Given the description of an element on the screen output the (x, y) to click on. 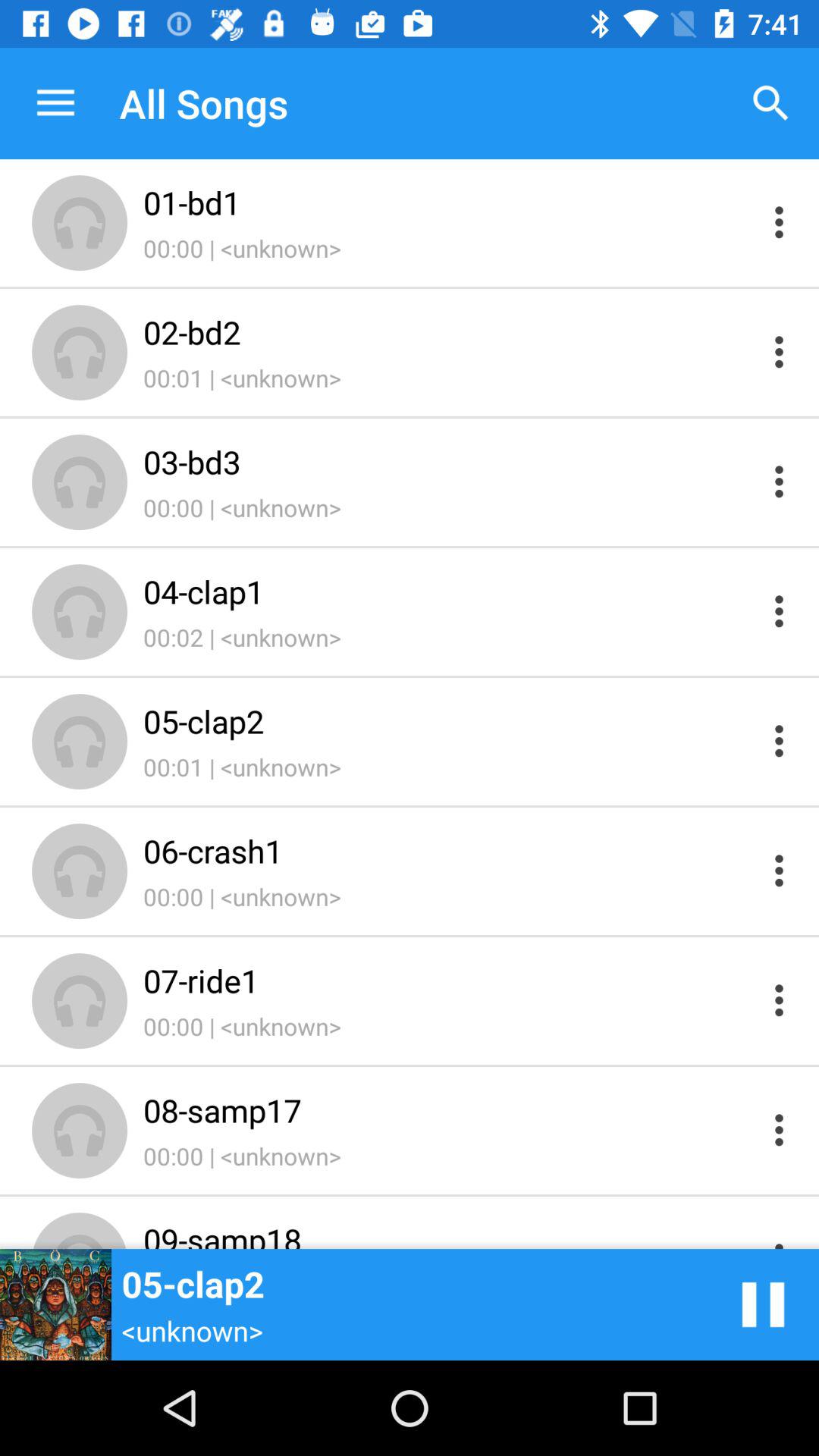
swipe until 03-bd3 (449, 461)
